Given the description of an element on the screen output the (x, y) to click on. 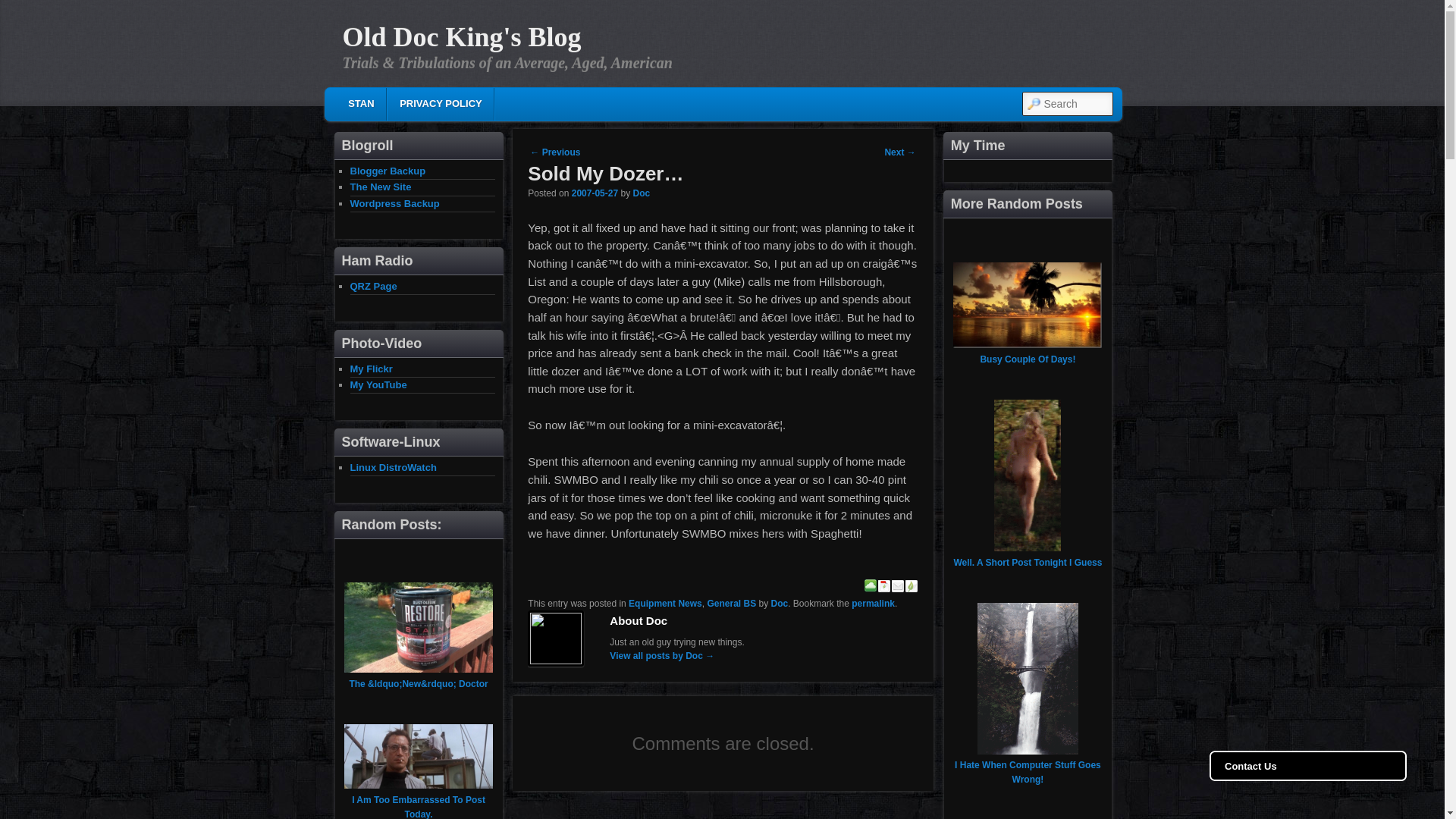
Wordpress Backup (394, 203)
My Flickr (371, 367)
PDF page (884, 587)
STAN (360, 103)
I Am Too Embarrassed To Post Today. (418, 806)
Doc (640, 193)
Save page (870, 587)
General BS (730, 603)
Old Doc King's Blog (461, 37)
SKIP TO SECONDARY CONTENT (445, 106)
